Given the description of an element on the screen output the (x, y) to click on. 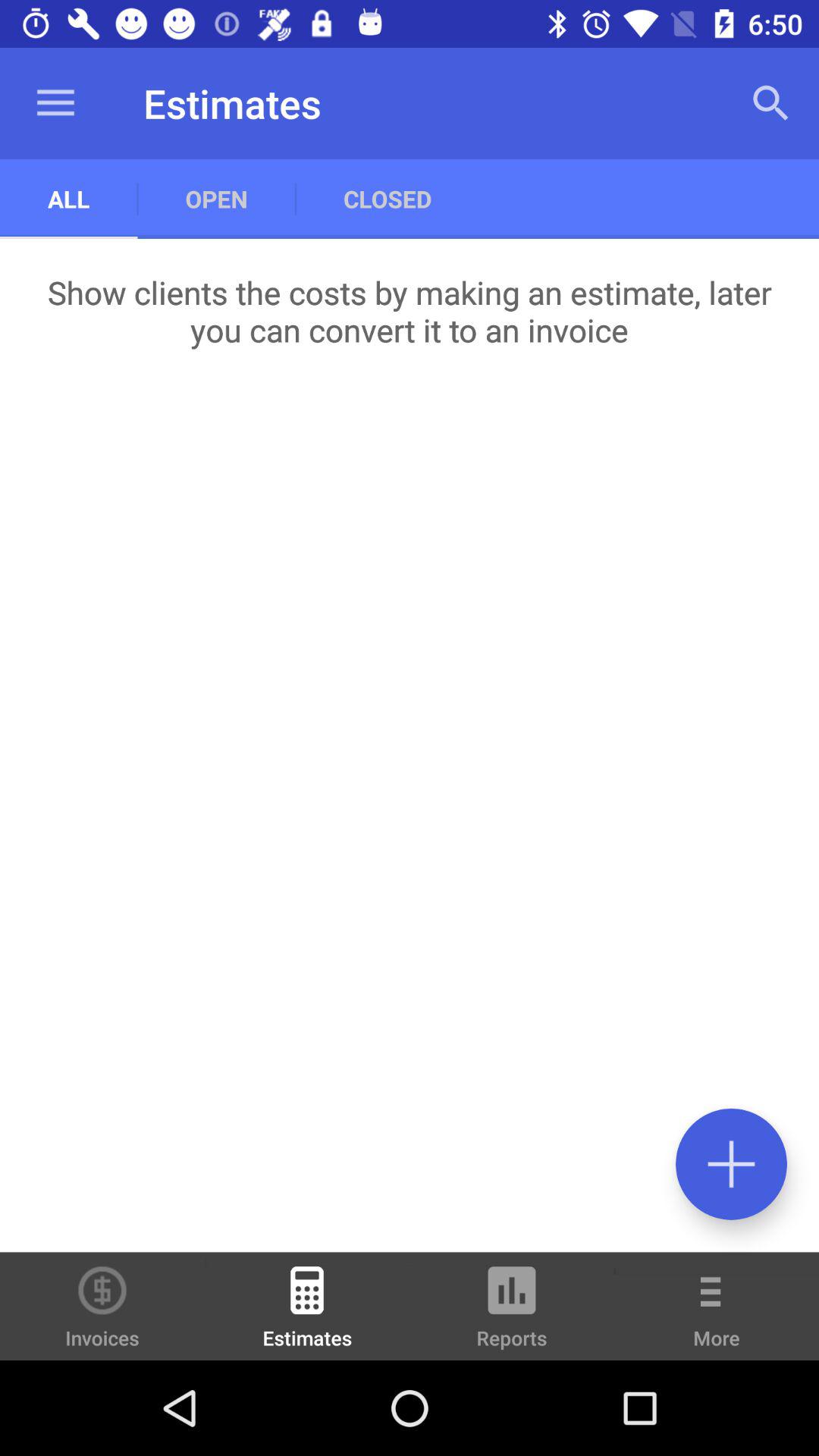
flip until closed (387, 198)
